Given the description of an element on the screen output the (x, y) to click on. 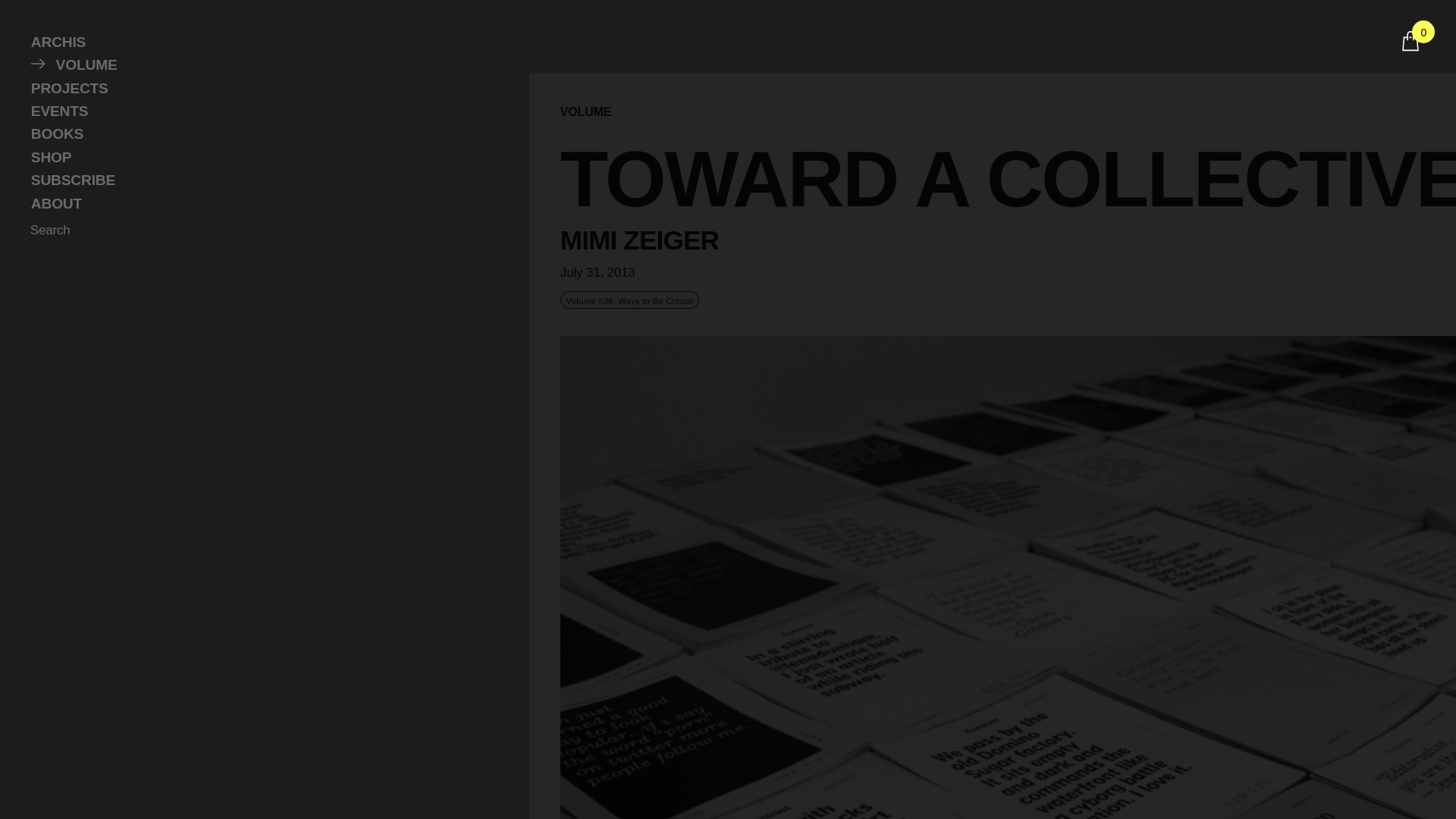
SHOP (258, 157)
SUBSCRIBE (258, 180)
BOOKS (258, 134)
Search (52, 231)
VOLUME (258, 65)
ARCHIS (258, 42)
VOLUME (585, 112)
EVENTS (258, 111)
ABOUT (258, 203)
PROJECTS (258, 88)
